Given the description of an element on the screen output the (x, y) to click on. 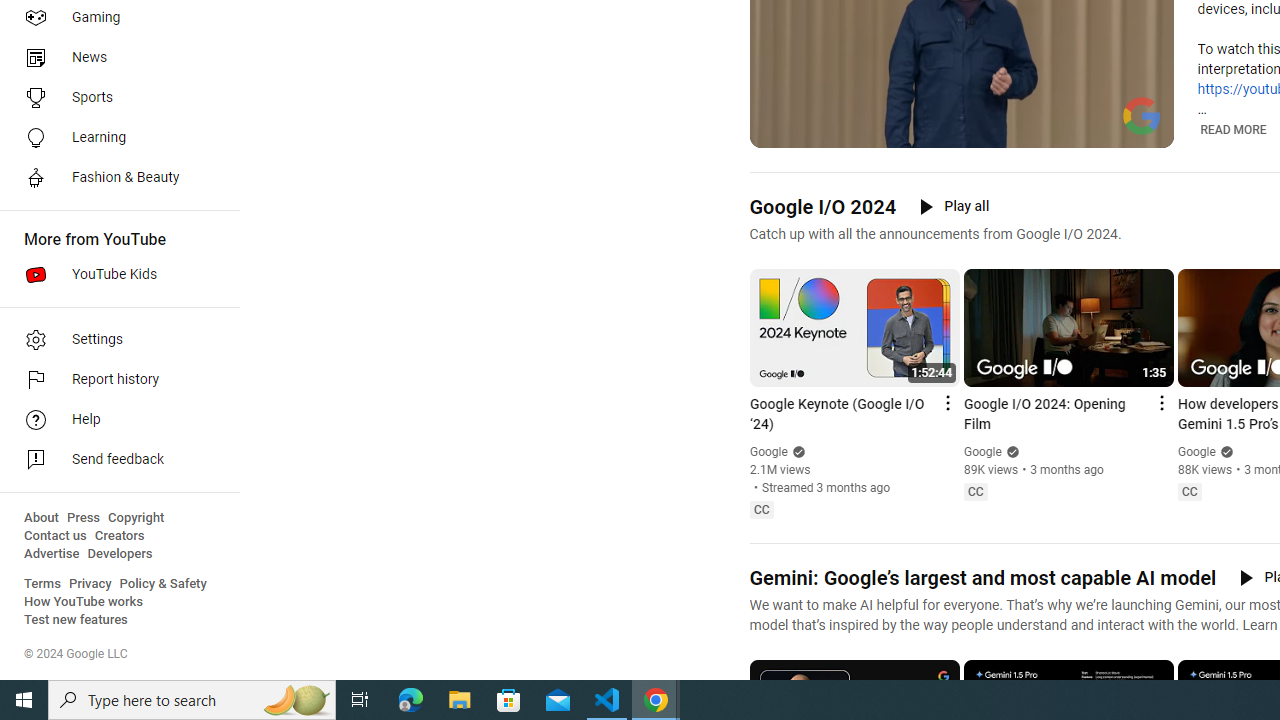
Learning (113, 137)
MadeByGoogle '24: Intro (985, 130)
Test new features (76, 620)
Copyright (136, 518)
Channel watermark (1141, 115)
Play all (954, 206)
Advertise (51, 554)
Report history (113, 380)
Contact us (55, 536)
News (113, 57)
Mute (m) (815, 130)
Full screen (f) (1143, 130)
Sports (113, 97)
Fashion & Beauty (113, 177)
